Given the description of an element on the screen output the (x, y) to click on. 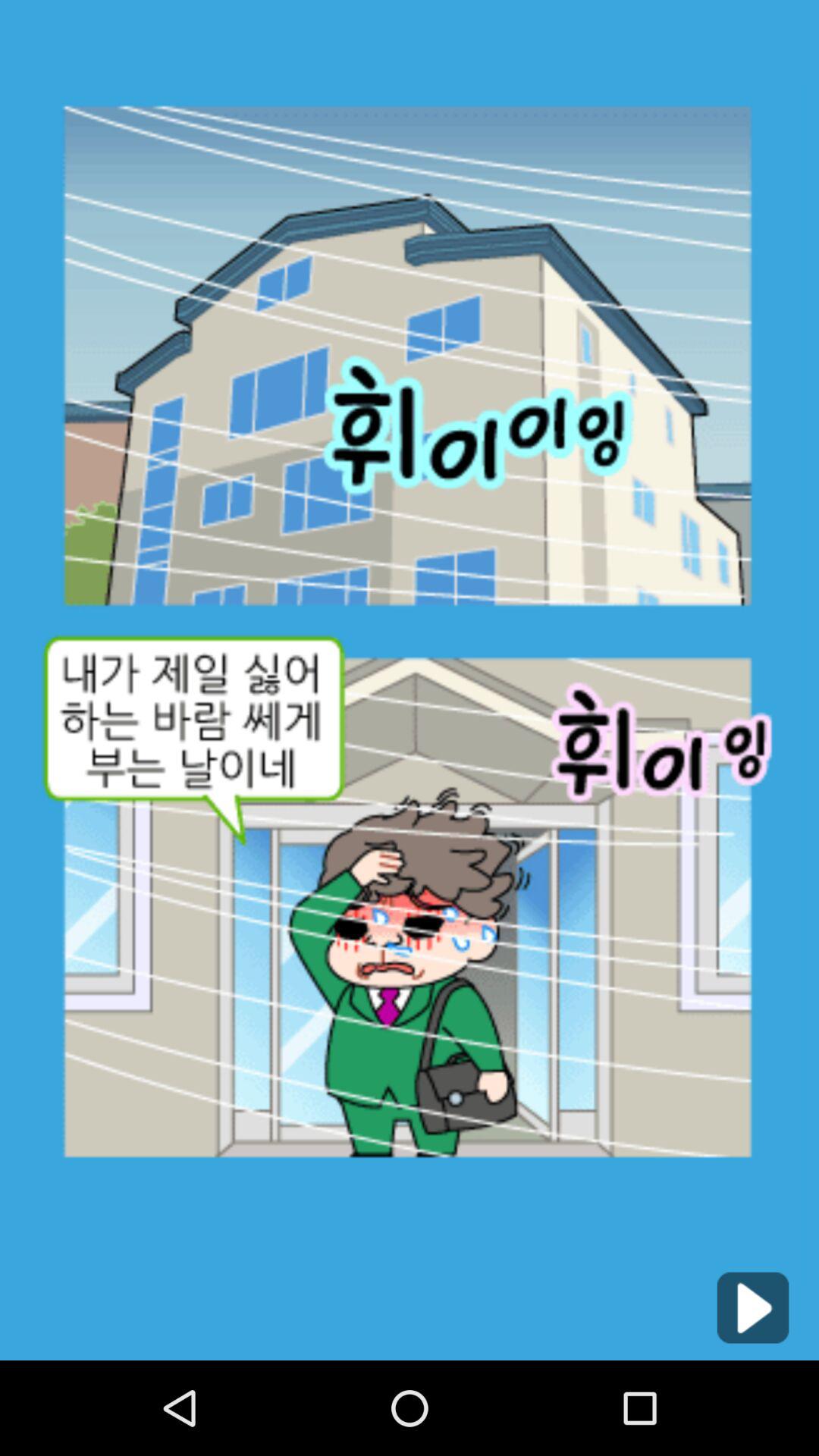
go to next screen (752, 1307)
